Given the description of an element on the screen output the (x, y) to click on. 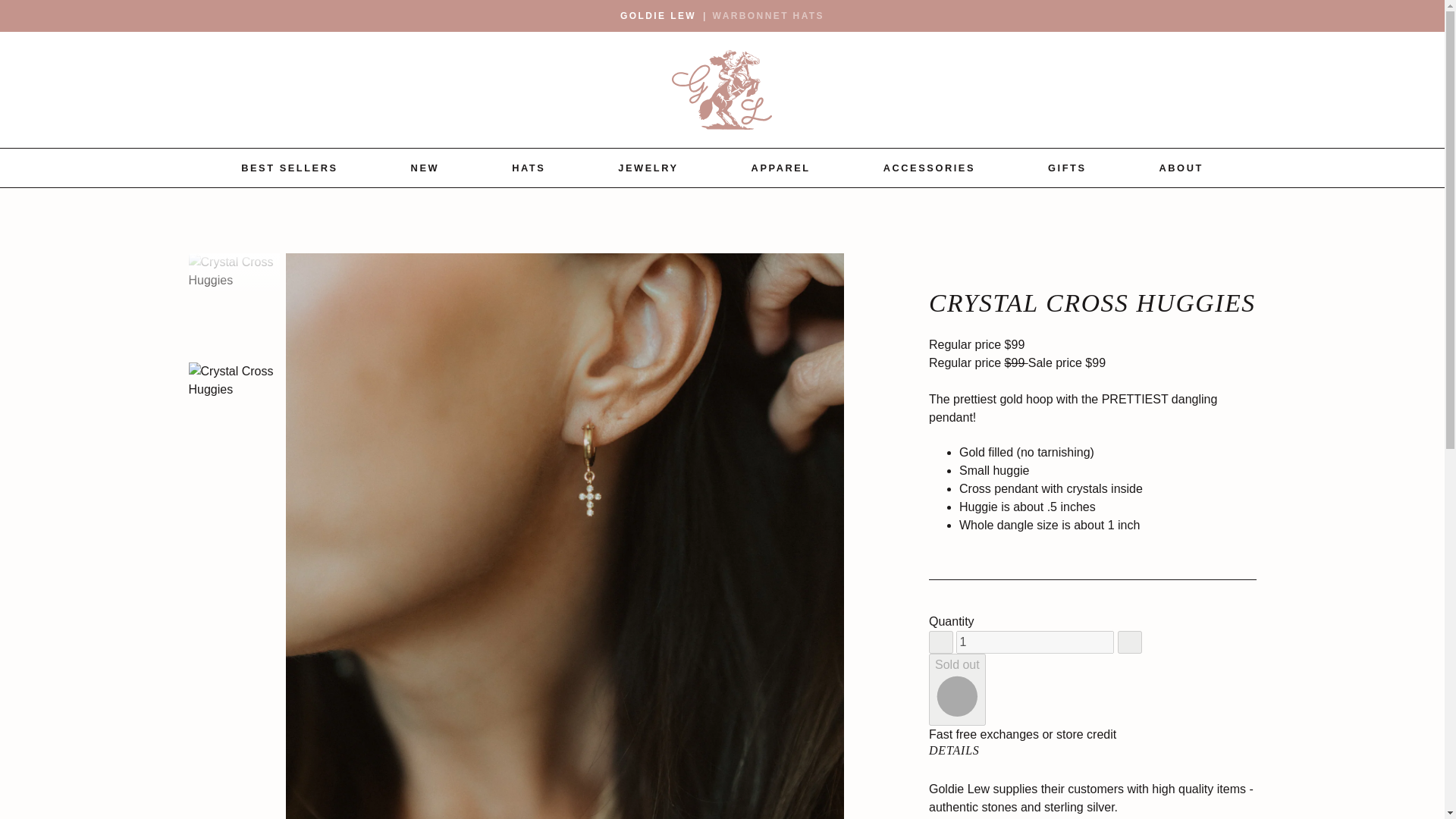
APPAREL (780, 167)
1 (1034, 640)
HATS (528, 167)
ABOUT (1181, 167)
GOLDIE LEW (657, 15)
JEWELRY (647, 167)
GIFTS (1067, 167)
ACCESSORIES (929, 167)
NEW (424, 167)
BEST SELLERS (289, 167)
